Given the description of an element on the screen output the (x, y) to click on. 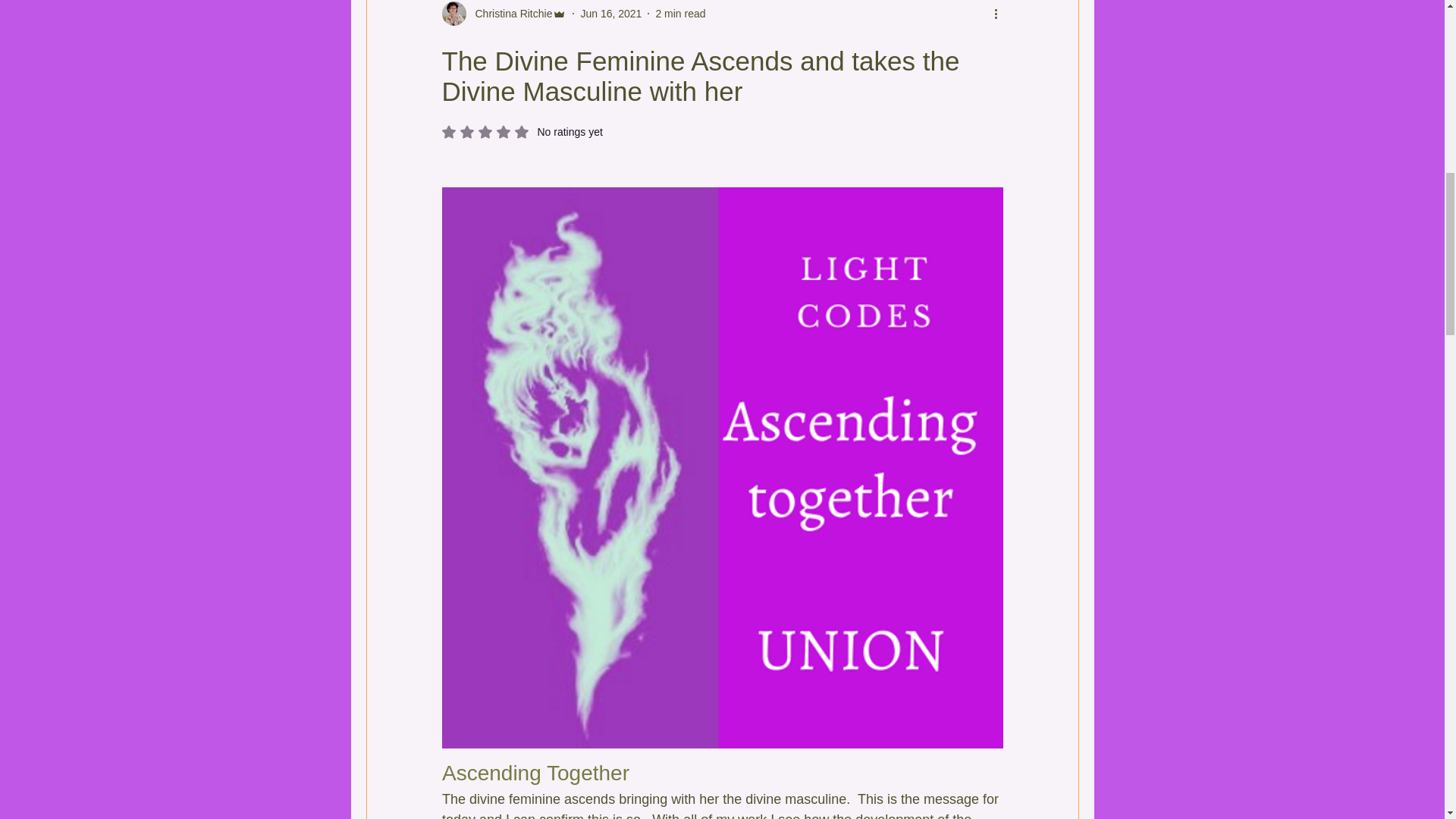
Christina Ritchie (508, 13)
2 min read (679, 13)
Jun 16, 2021 (610, 13)
